Given the description of an element on the screen output the (x, y) to click on. 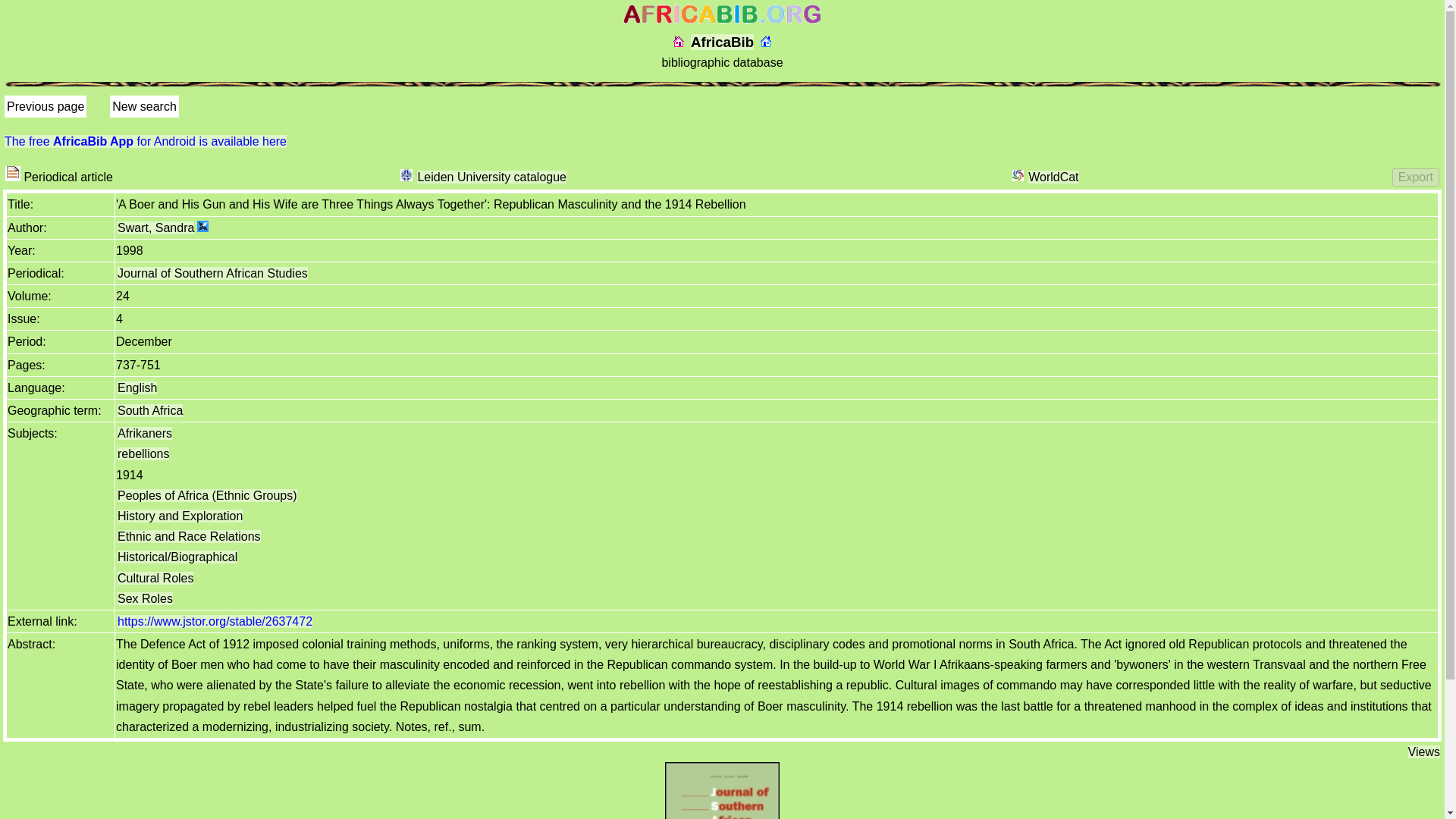
Cultural Roles (155, 577)
rebellions (142, 453)
The free AfricaBib App for Android is available here (145, 141)
Cover (722, 790)
Leiden University catalogue (491, 176)
Go to Previous page (45, 106)
Go to database home (765, 41)
Periodical article (12, 173)
Journal of Southern African Studies (212, 273)
ISNI (202, 225)
